Given the description of an element on the screen output the (x, y) to click on. 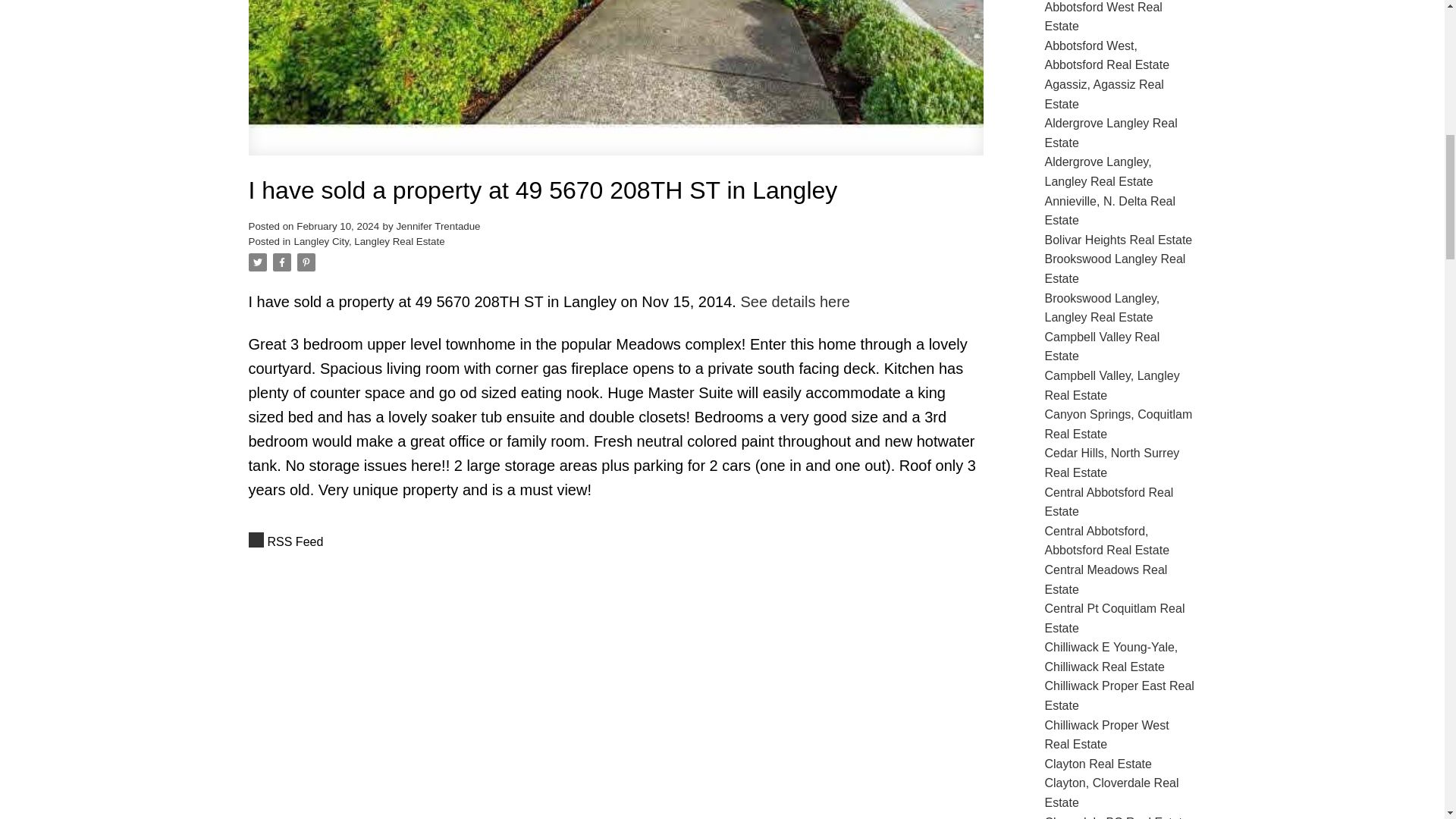
Abbotsford West Real Estate (1103, 16)
Langley City, Langley Real Estate (369, 241)
Abbotsford West, Abbotsford Real Estate (1107, 55)
Agassiz, Agassiz Real Estate (1104, 93)
RSS (616, 542)
See details here (794, 301)
